Given the description of an element on the screen output the (x, y) to click on. 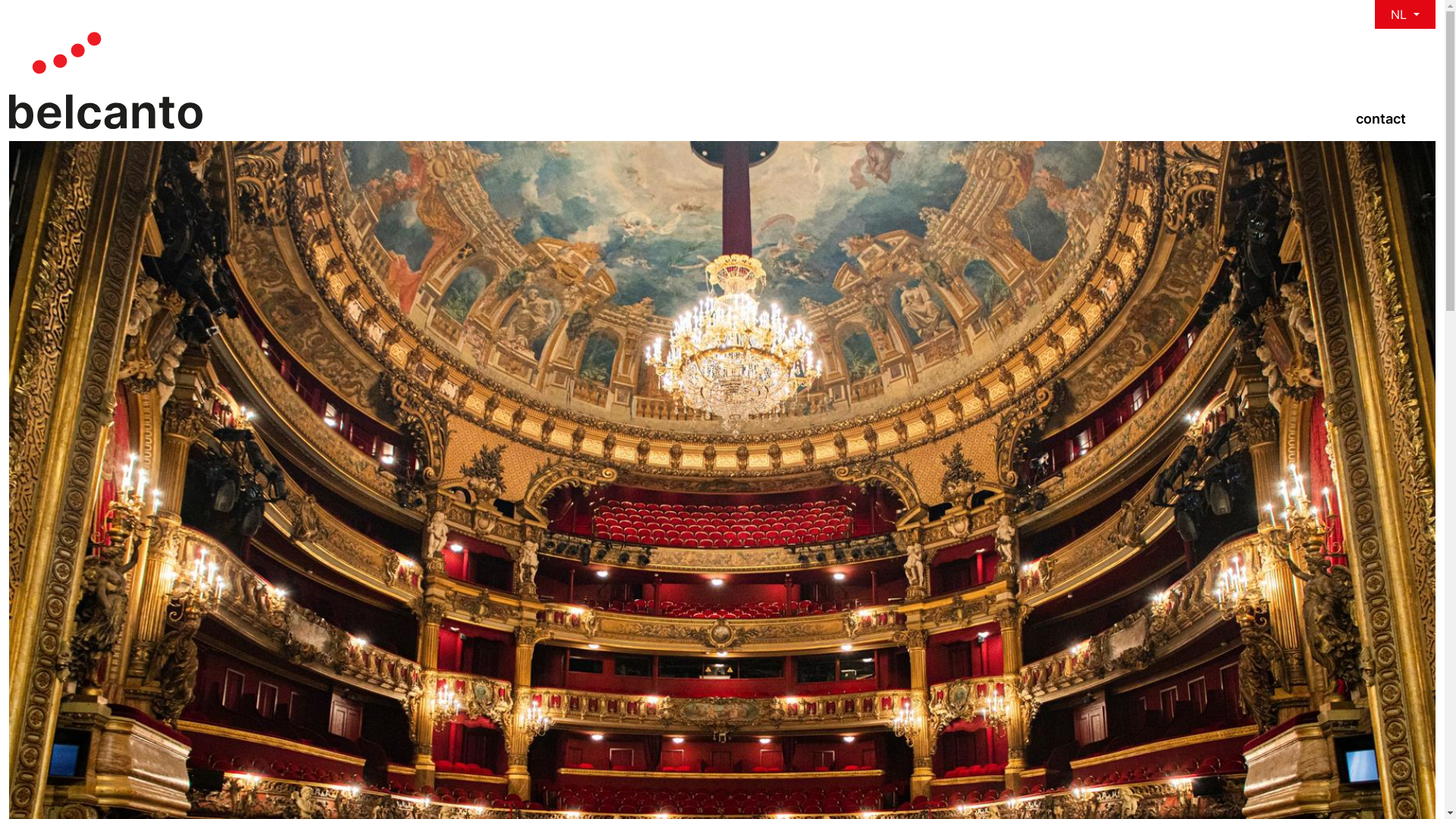
NL Element type: text (1404, 14)
contact Element type: text (1380, 118)
